Given the description of an element on the screen output the (x, y) to click on. 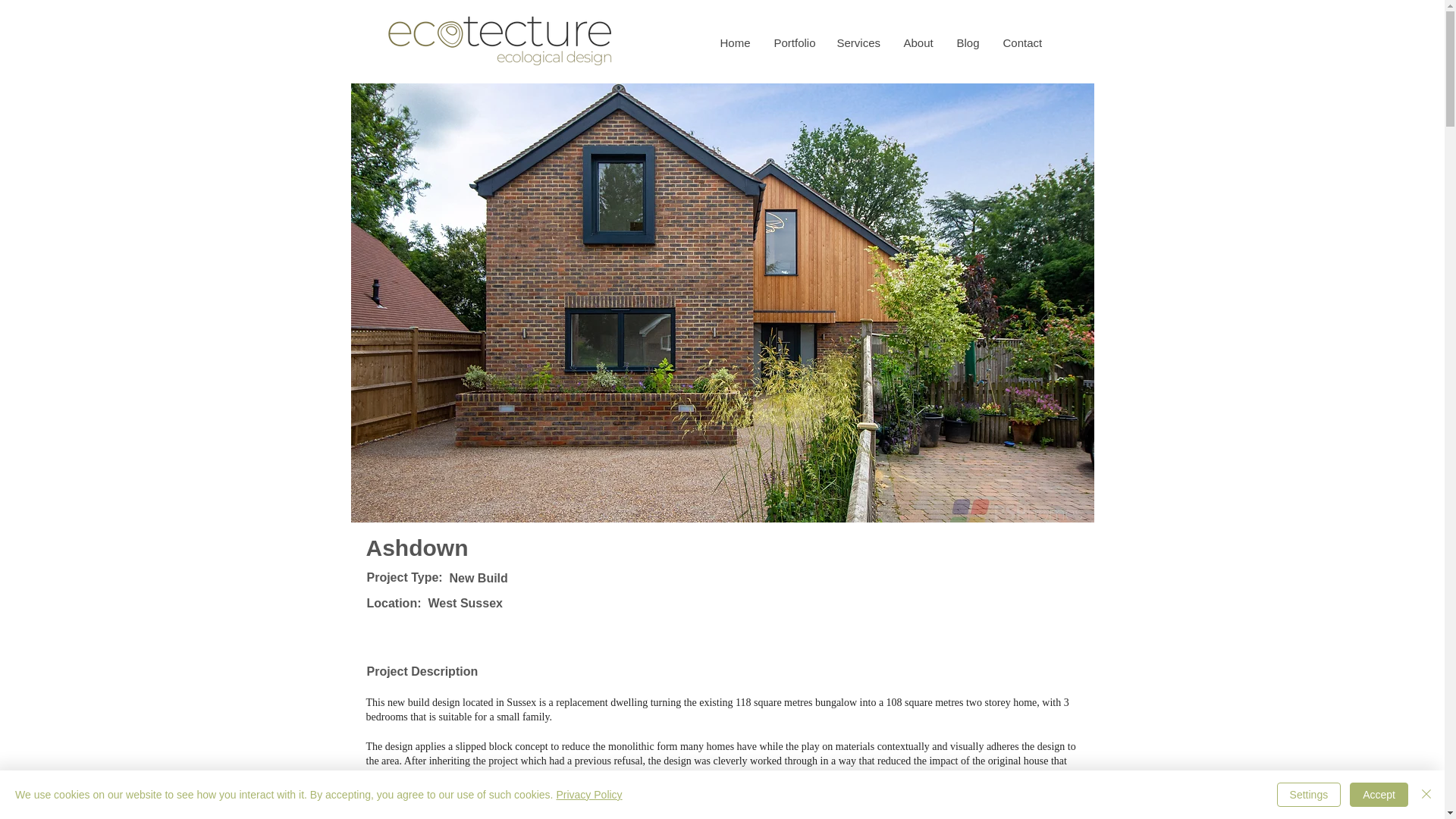
Accept (1378, 794)
Blog (967, 42)
Home (734, 42)
Privacy Policy (588, 794)
Portfolio (792, 42)
Contact (1021, 42)
Settings (1308, 794)
Services (858, 42)
About (917, 42)
